Given the description of an element on the screen output the (x, y) to click on. 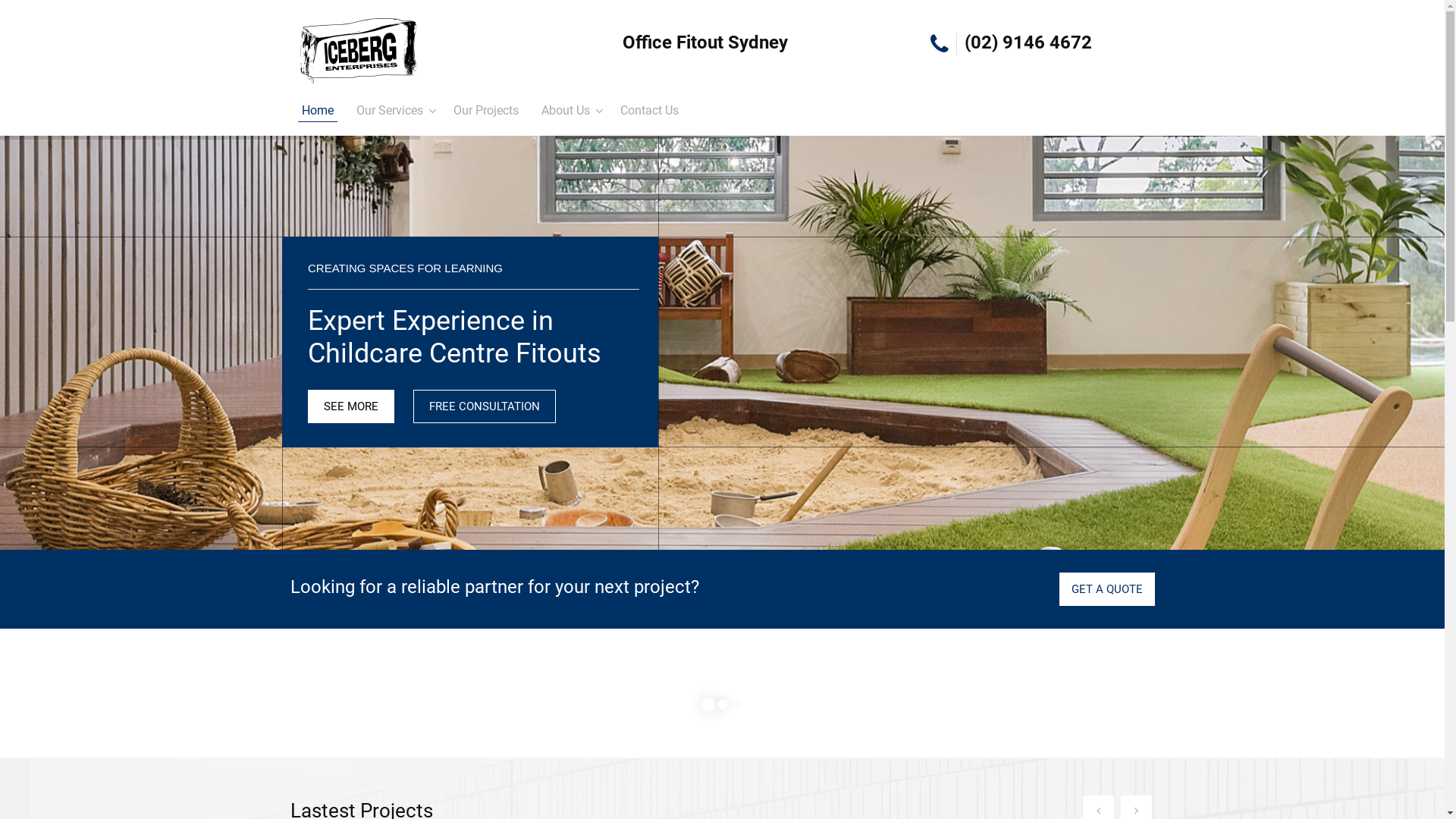
Home Element type: text (317, 110)
GET A QUOTE Element type: text (1106, 588)
Our Services Element type: text (389, 110)
Contact Us Element type: text (649, 110)
Our Projects Element type: text (485, 110)
About Us Element type: text (565, 110)
